Given the description of an element on the screen output the (x, y) to click on. 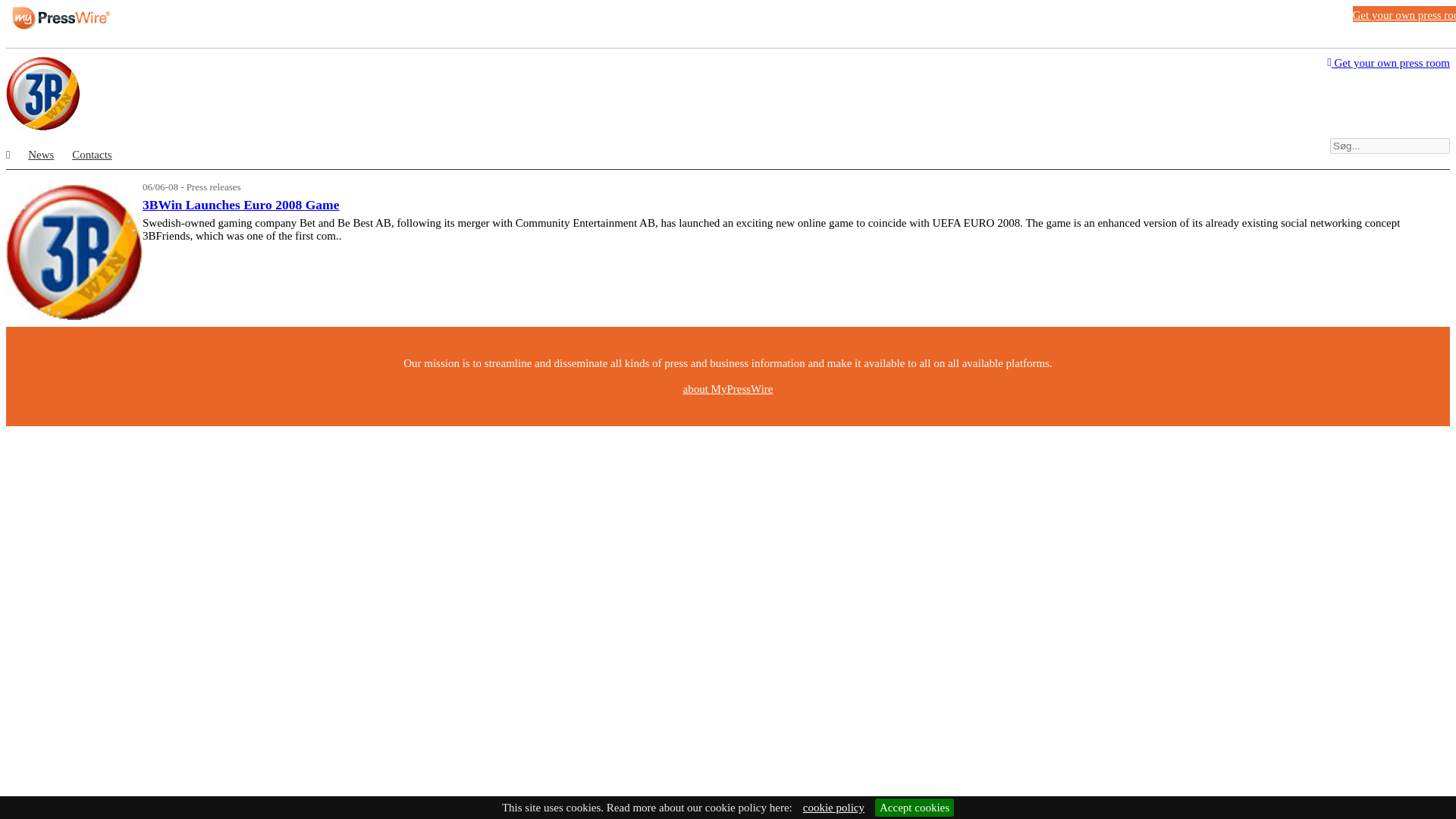
about MyPressWire (727, 388)
News (40, 154)
Contacts (91, 154)
